Given the description of an element on the screen output the (x, y) to click on. 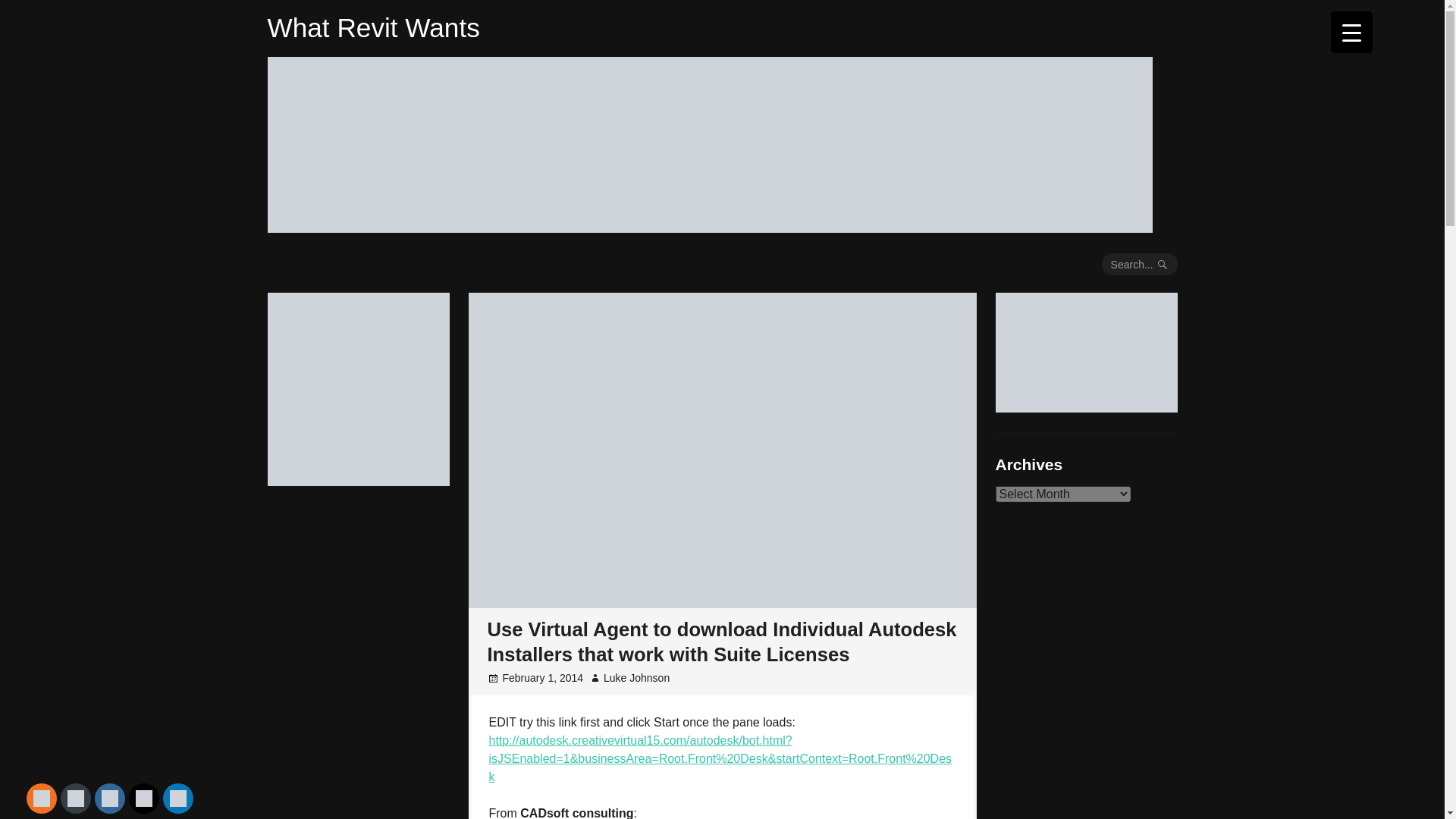
Luke Johnson (636, 677)
What Revit Wants (372, 27)
February 1, 2014 (542, 677)
Search... (1139, 264)
